Given the description of an element on the screen output the (x, y) to click on. 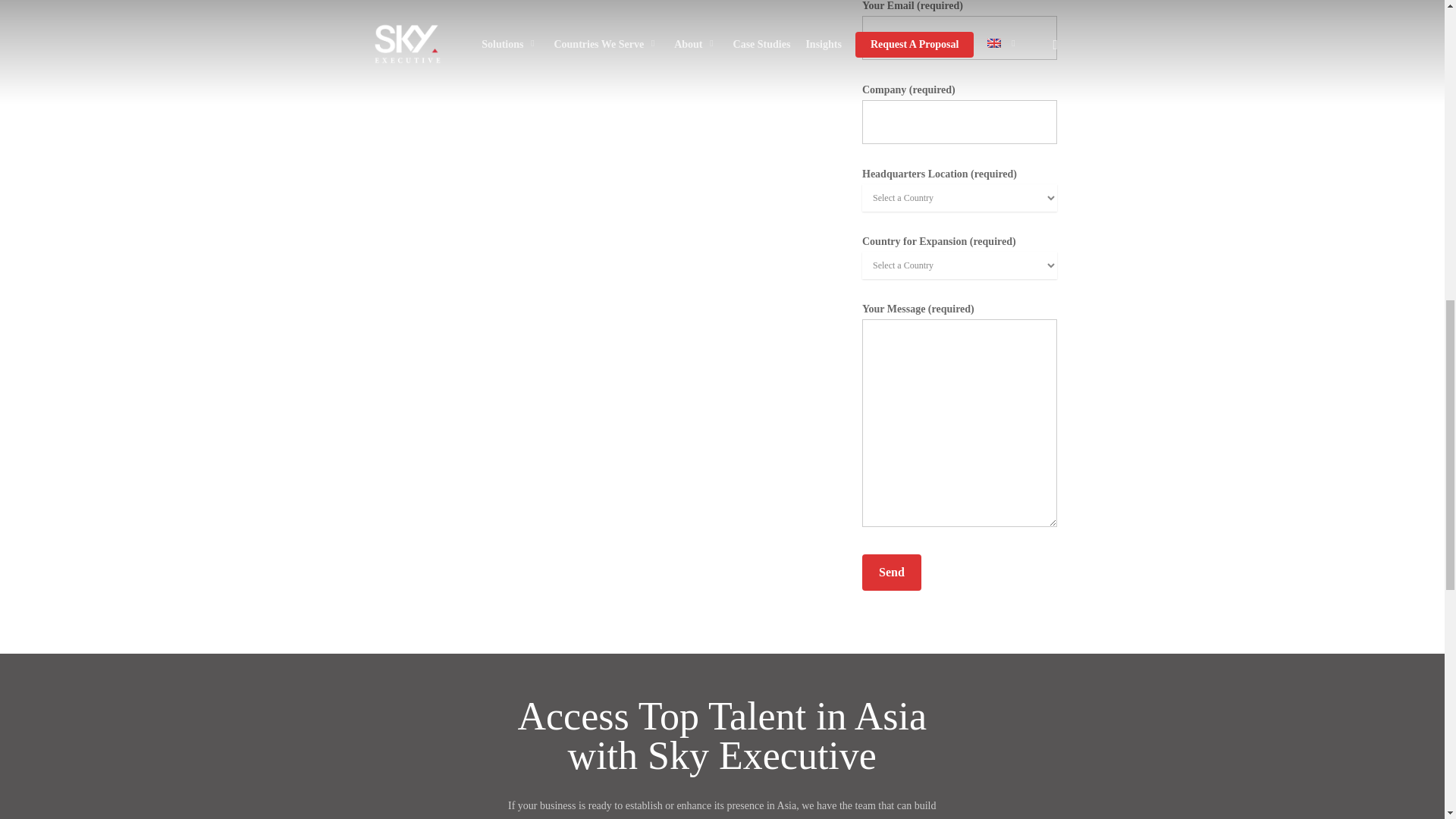
Send (891, 572)
